Given the description of an element on the screen output the (x, y) to click on. 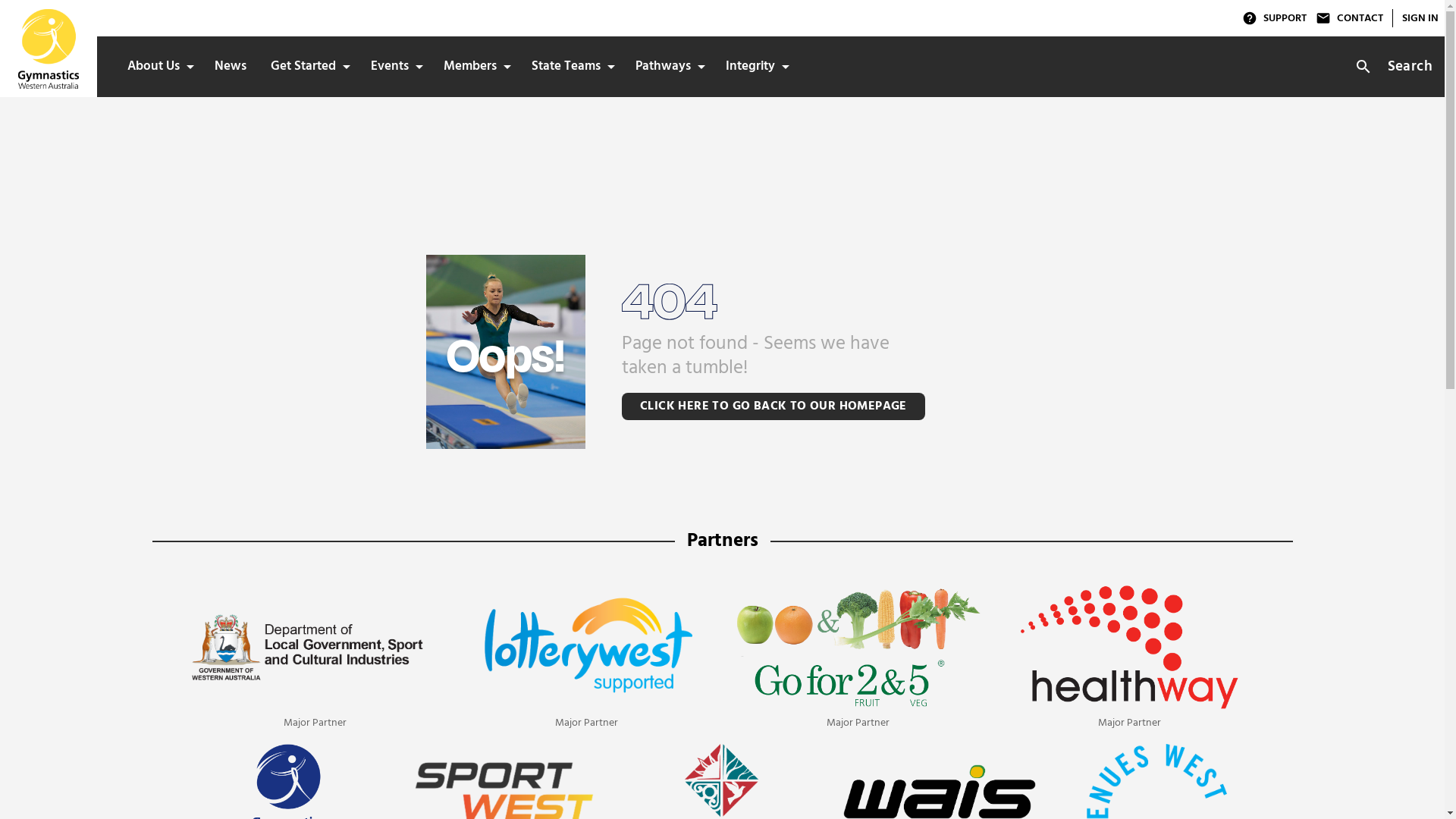
Events Element type: text (394, 66)
SIGN IN Element type: text (1420, 18)
About Us Element type: text (158, 66)
News Element type: text (230, 66)
CLICK HERE TO GO BACK TO OUR HOMEPAGE Element type: text (773, 406)
Pathways Element type: text (668, 66)
Members Element type: text (475, 66)
SIGN IN Element type: text (1415, 18)
CONTACT Element type: text (1349, 18)
Search Element type: text (1396, 66)
Integrity Element type: text (755, 66)
Partners Element type: text (722, 541)
State Teams Element type: text (571, 66)
SUPPORT Element type: text (1274, 18)
Get Started Element type: text (308, 66)
